Given the description of an element on the screen output the (x, y) to click on. 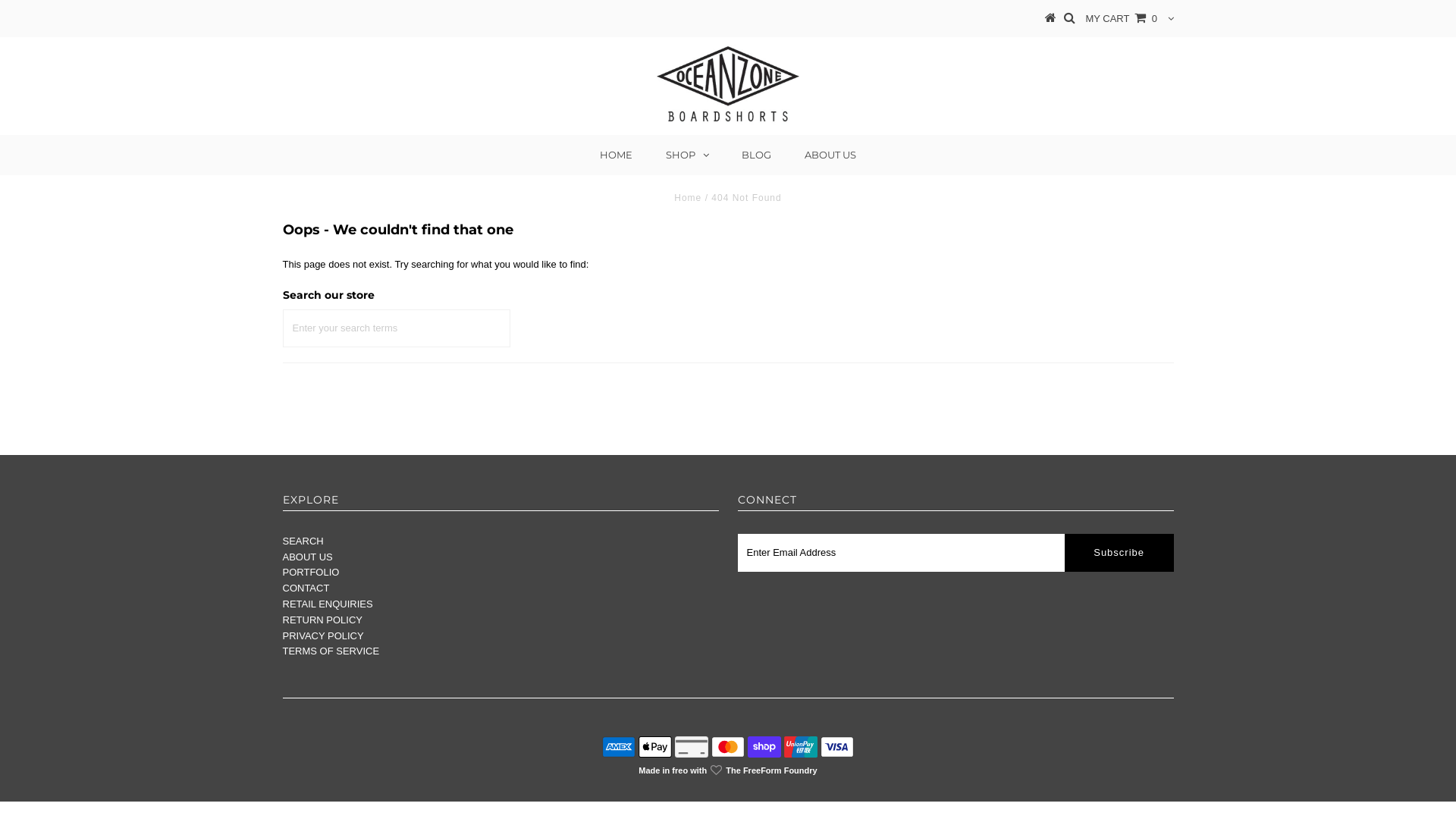
MY CART    0 Element type: text (1121, 18)
CONTACT Element type: text (305, 587)
HOME Element type: text (615, 154)
ABOUT US Element type: text (307, 556)
RETURN POLICY Element type: text (321, 619)
Subscribe Element type: text (1118, 552)
PRIVACY POLICY Element type: text (322, 635)
SEARCH Element type: text (302, 540)
ABOUT US Element type: text (830, 154)
RETAIL ENQUIRIES Element type: text (327, 603)
TERMS OF SERVICE Element type: text (330, 650)
BLOG Element type: text (756, 154)
The FreeForm Foundry Element type: text (770, 770)
SHOP Element type: text (687, 154)
Home Element type: text (687, 197)
PORTFOLIO Element type: text (310, 571)
